Given the description of an element on the screen output the (x, y) to click on. 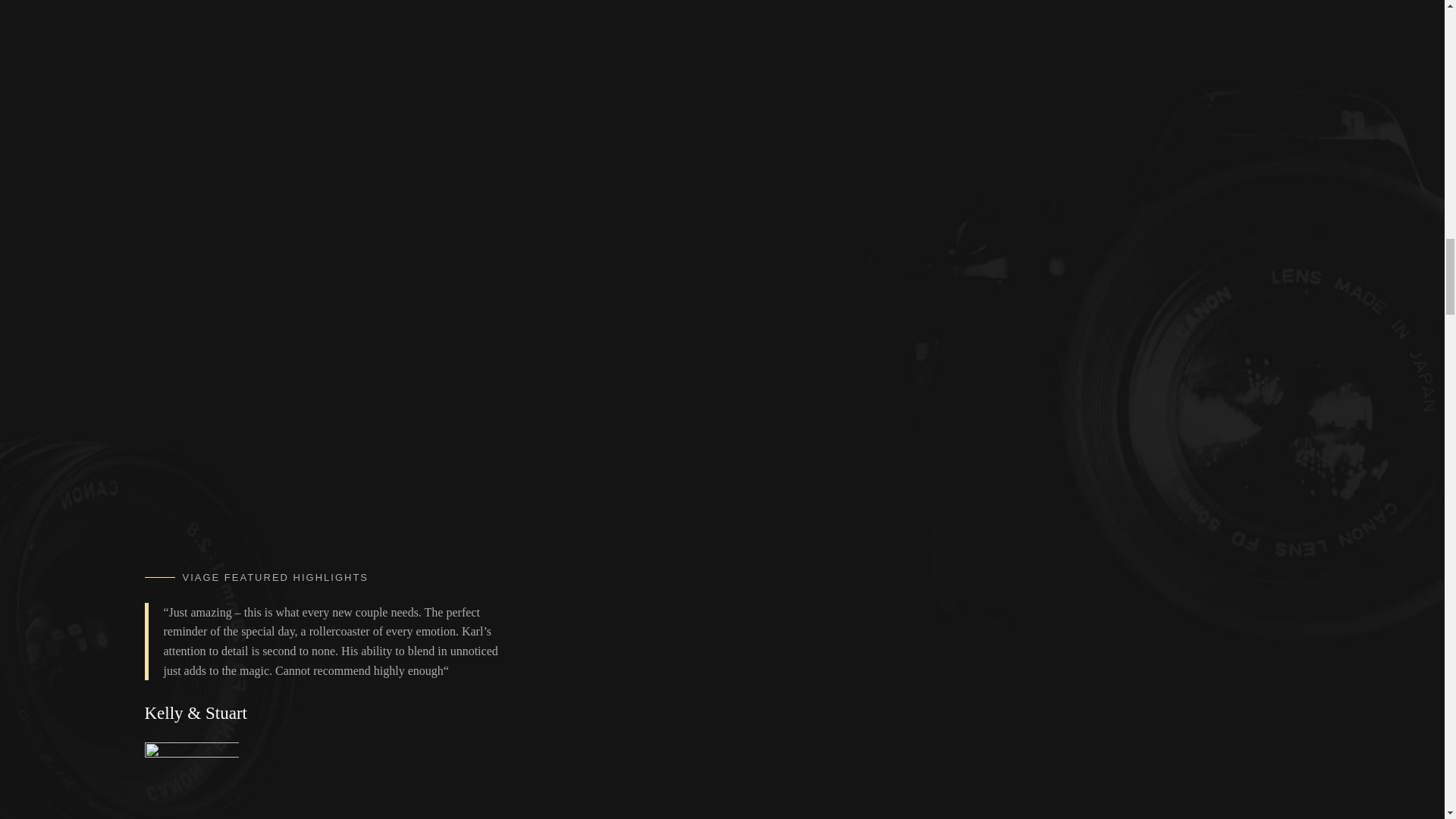
star (191, 751)
